Given the description of an element on the screen output the (x, y) to click on. 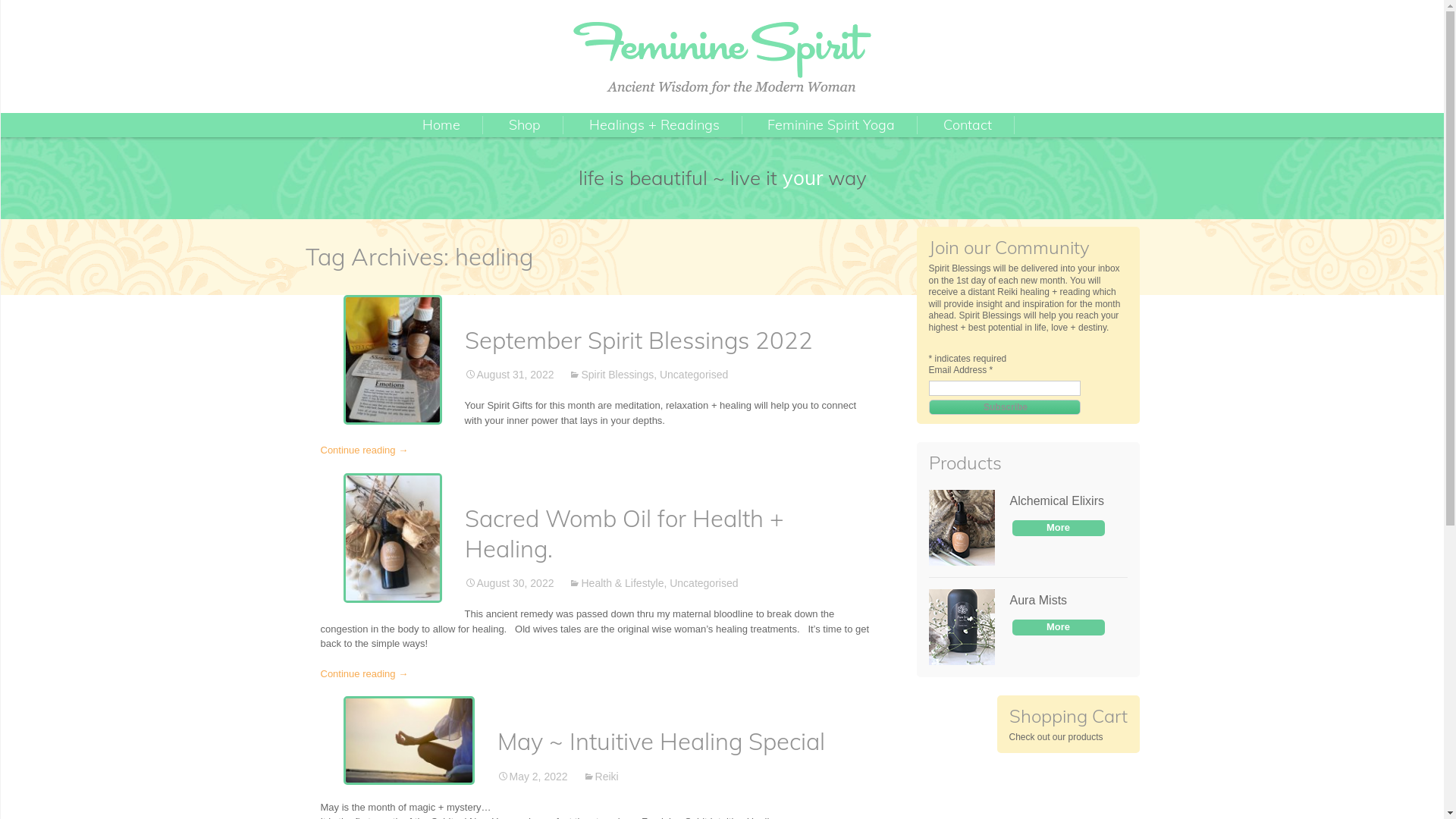
Home Element type: text (441, 124)
Feminine Spirit Element type: text (721, 57)
Intuitive Healing + Soul Reading Element type: text (639, 153)
Subscribe Element type: text (1003, 406)
August 30, 2022 Element type: text (508, 583)
Uncategorised Element type: text (693, 374)
Health & Lifestyle Element type: text (615, 583)
More Element type: text (1057, 528)
September Spirit Blessings 2022 Element type: text (638, 339)
Healings + Readings Element type: text (653, 124)
More Element type: text (1057, 627)
August 31, 2022 Element type: text (508, 374)
Spirit Blessings Element type: text (610, 374)
May 2, 2022 Element type: text (532, 776)
Feminine Spirit Yoga Element type: text (830, 124)
Skip to content Element type: text (721, 112)
Uncategorised Element type: text (703, 583)
Reiki in a Bottle Element type: text (560, 147)
Contact Element type: text (967, 124)
Shop Element type: text (524, 124)
May ~ Intuitive Healing Special Element type: text (661, 741)
Yoga Classes Element type: text (818, 147)
Reiki Element type: text (600, 776)
Sacred Womb Oil for Health + Healing. Element type: text (623, 533)
